Given the description of an element on the screen output the (x, y) to click on. 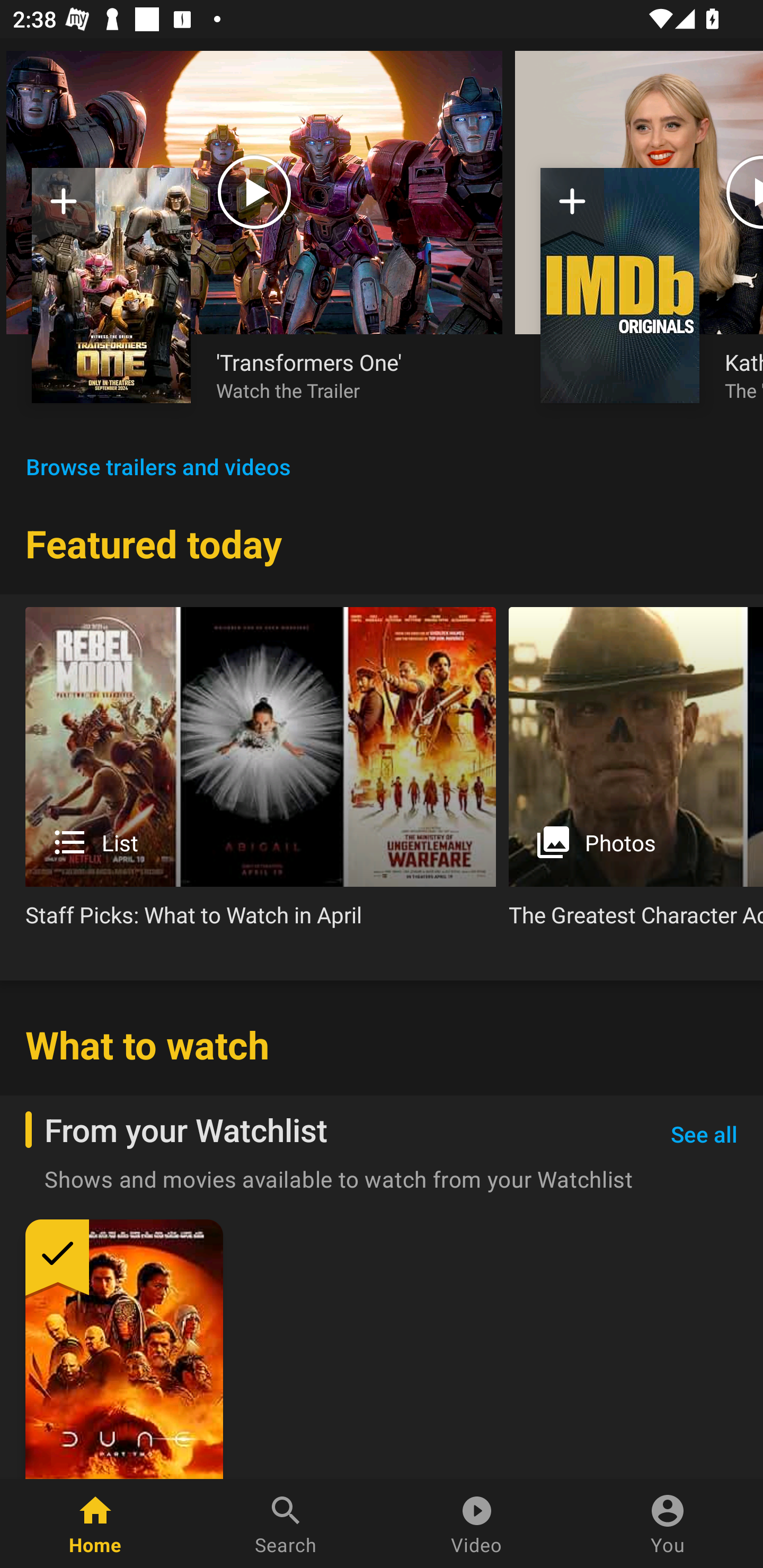
Not in watchlist (111, 284)
Not in watchlist (63, 207)
Not in watchlist (619, 284)
Not in watchlist (572, 207)
'Transformers One' Watch the Trailer (345, 374)
List Staff Picks: What to Watch in April (260, 774)
Photos The Greatest Character Actors of All Time (635, 774)
See all See all From your Watchlist (703, 1134)
Search (285, 1523)
Video (476, 1523)
You (667, 1523)
